Given the description of an element on the screen output the (x, y) to click on. 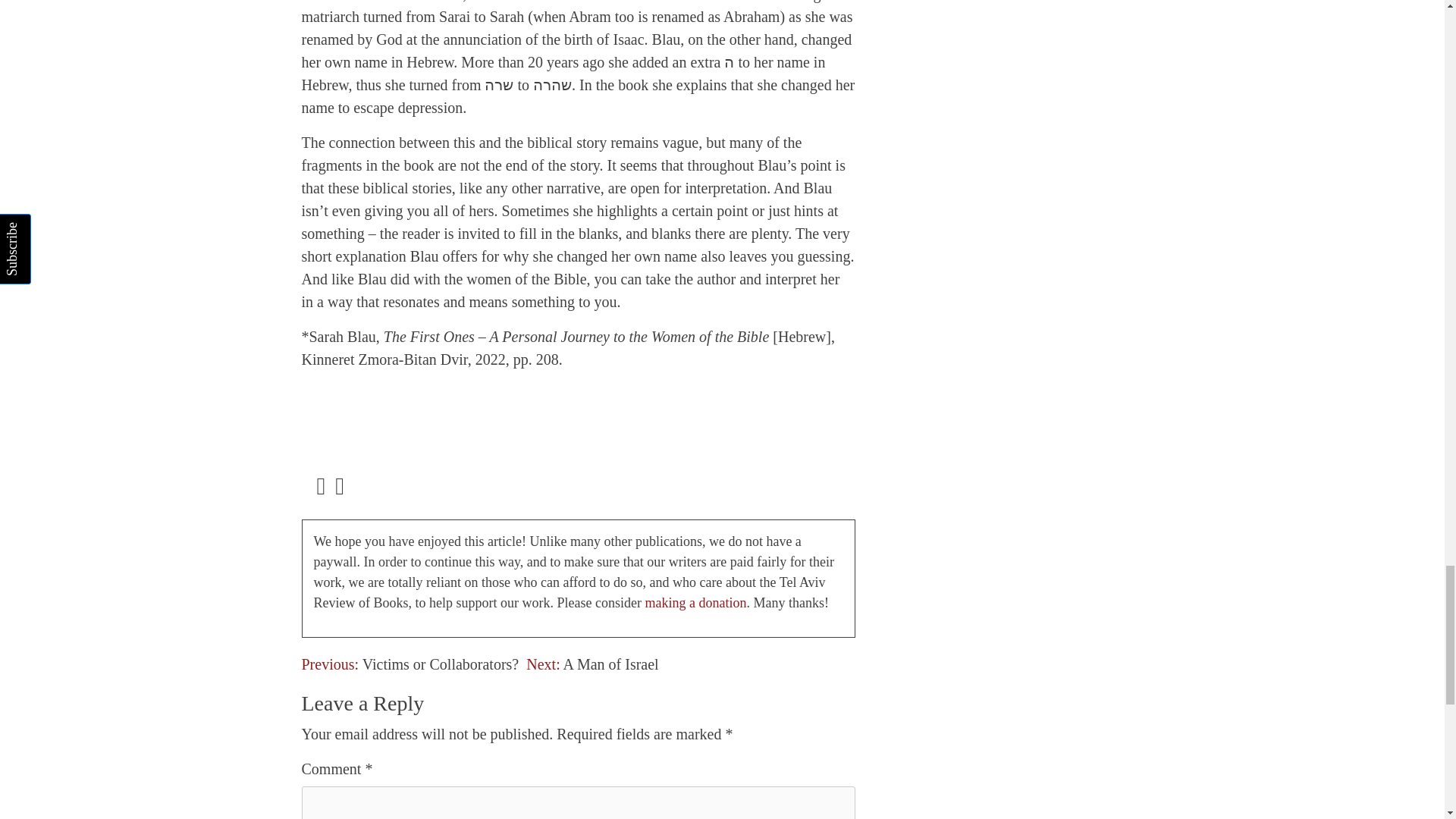
Next: A Man of Israel (591, 664)
Previous: Victims or Collaborators? (410, 664)
making a donation (695, 602)
